Given the description of an element on the screen output the (x, y) to click on. 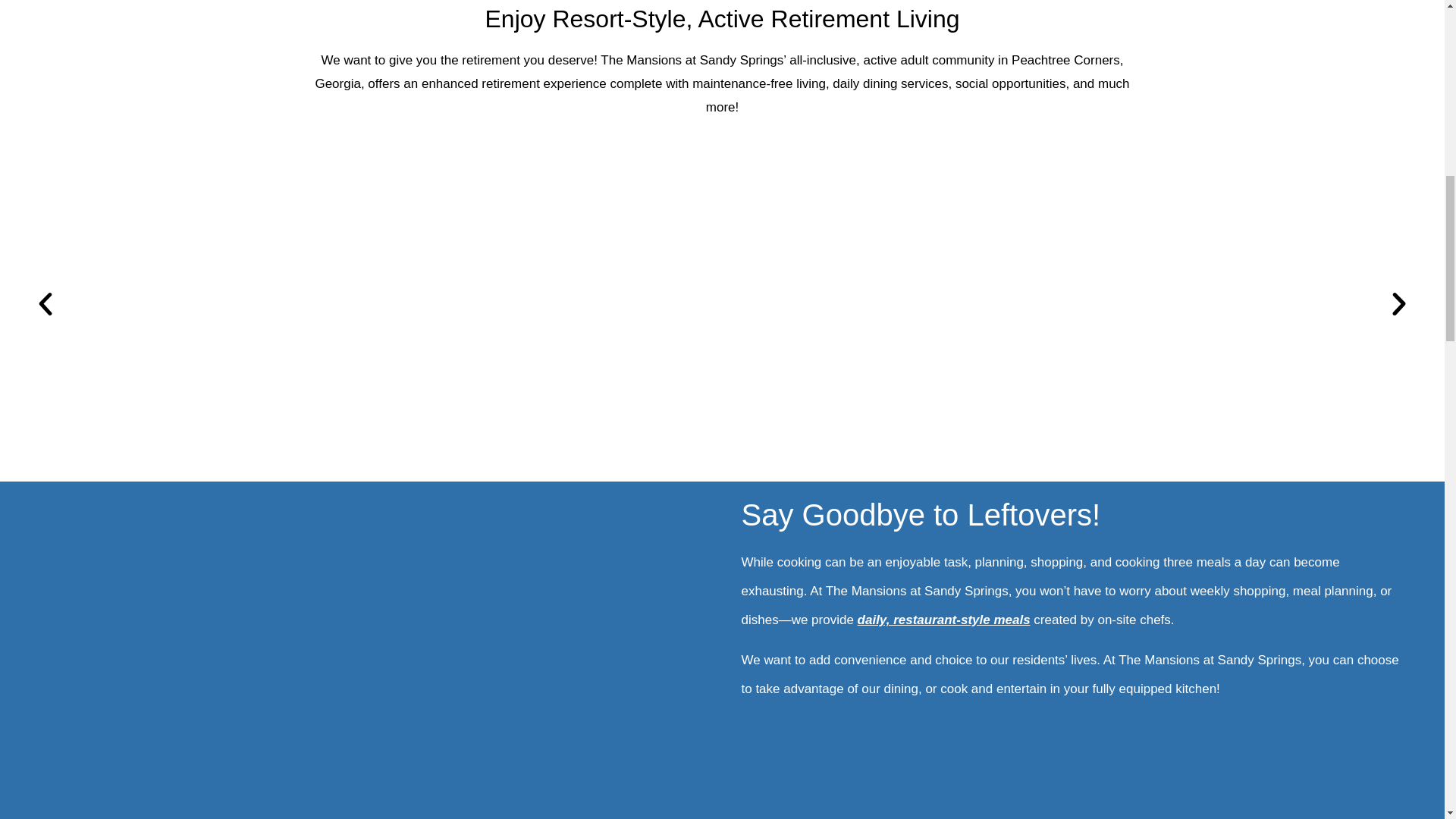
daily, restaurant-style meals  (945, 619)
